Given the description of an element on the screen output the (x, y) to click on. 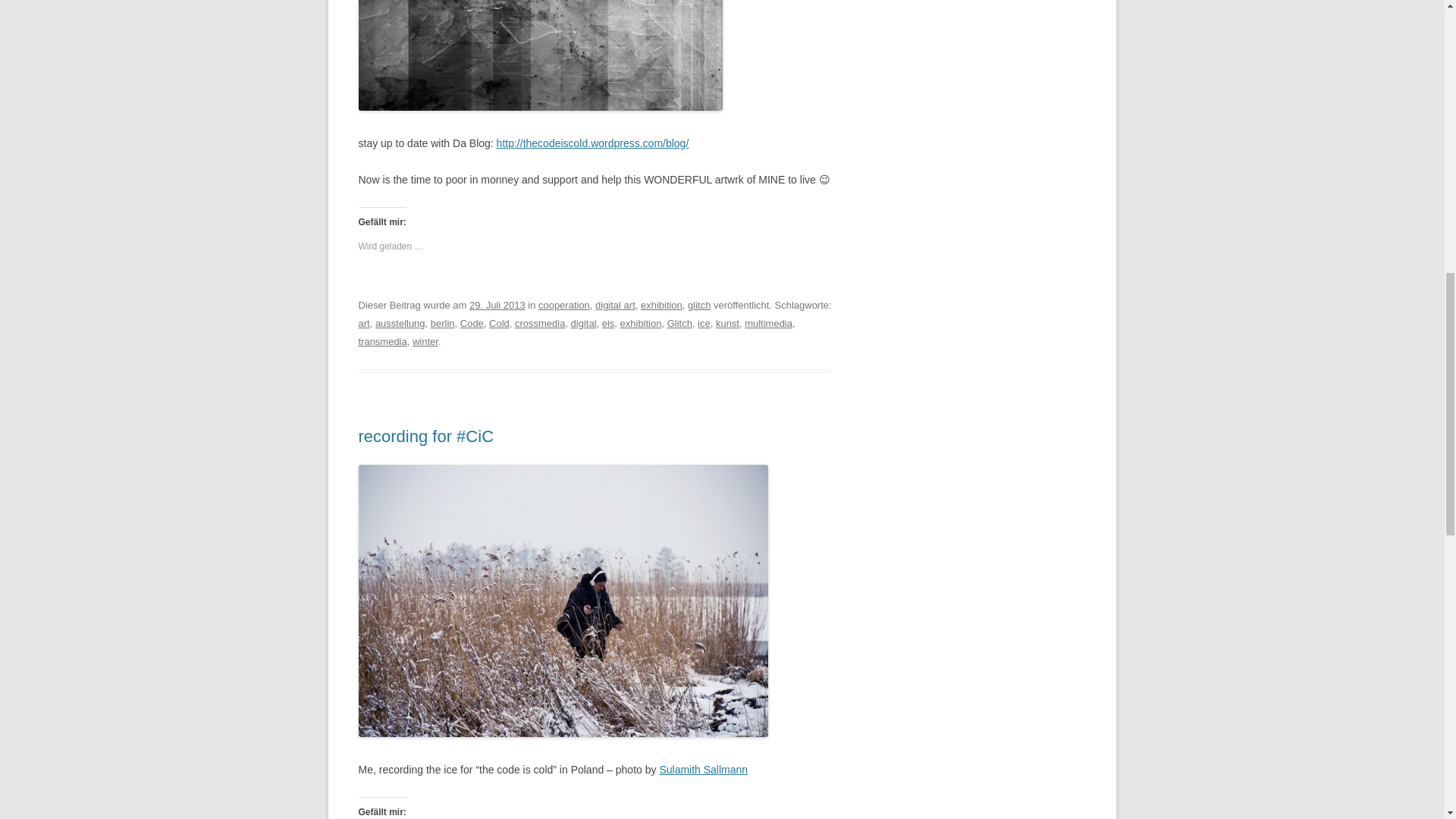
art (363, 323)
ausstellung (400, 323)
DaB (592, 143)
20:41 (496, 305)
crossmedia (539, 323)
digital art (614, 305)
digital (583, 323)
cooperation (563, 305)
29. Juli 2013 (496, 305)
glitch (698, 305)
